Given the description of an element on the screen output the (x, y) to click on. 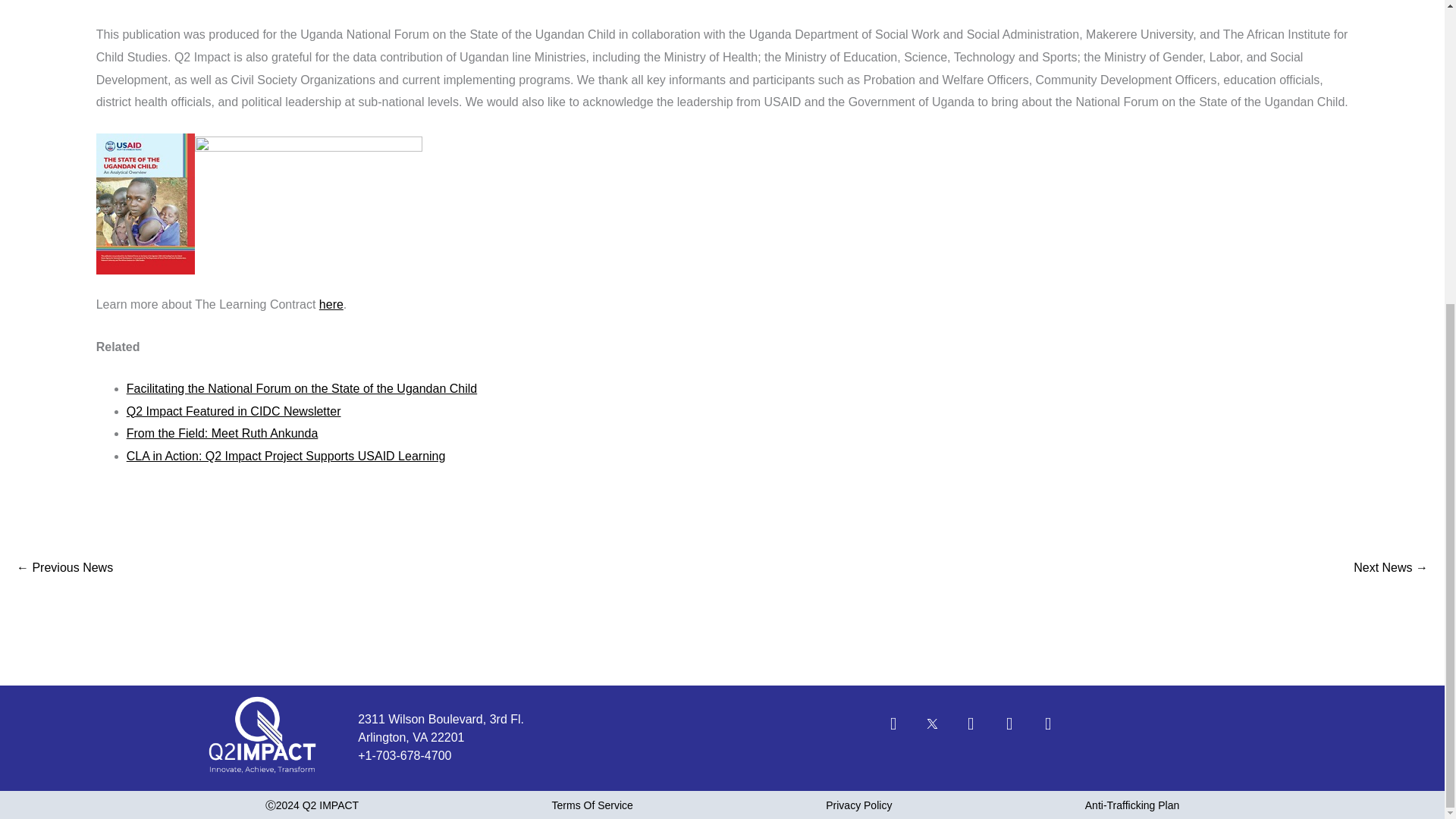
Linkedin (979, 732)
Privacy Policy (858, 805)
Q2 Impact Presents at the 2016 InsideNGO Annual Conference (1391, 567)
Q2 Impact Featured in CIDC Newsletter (233, 410)
CLA in Action: Q2 Impact Project Supports USAID Learning (285, 455)
Instagram (1056, 732)
Terms Of Service (592, 805)
CLA in Action: Q2 Impact Project Supports USAID Learning (64, 567)
Anti-Trafficking Plan (1131, 805)
